Given the description of an element on the screen output the (x, y) to click on. 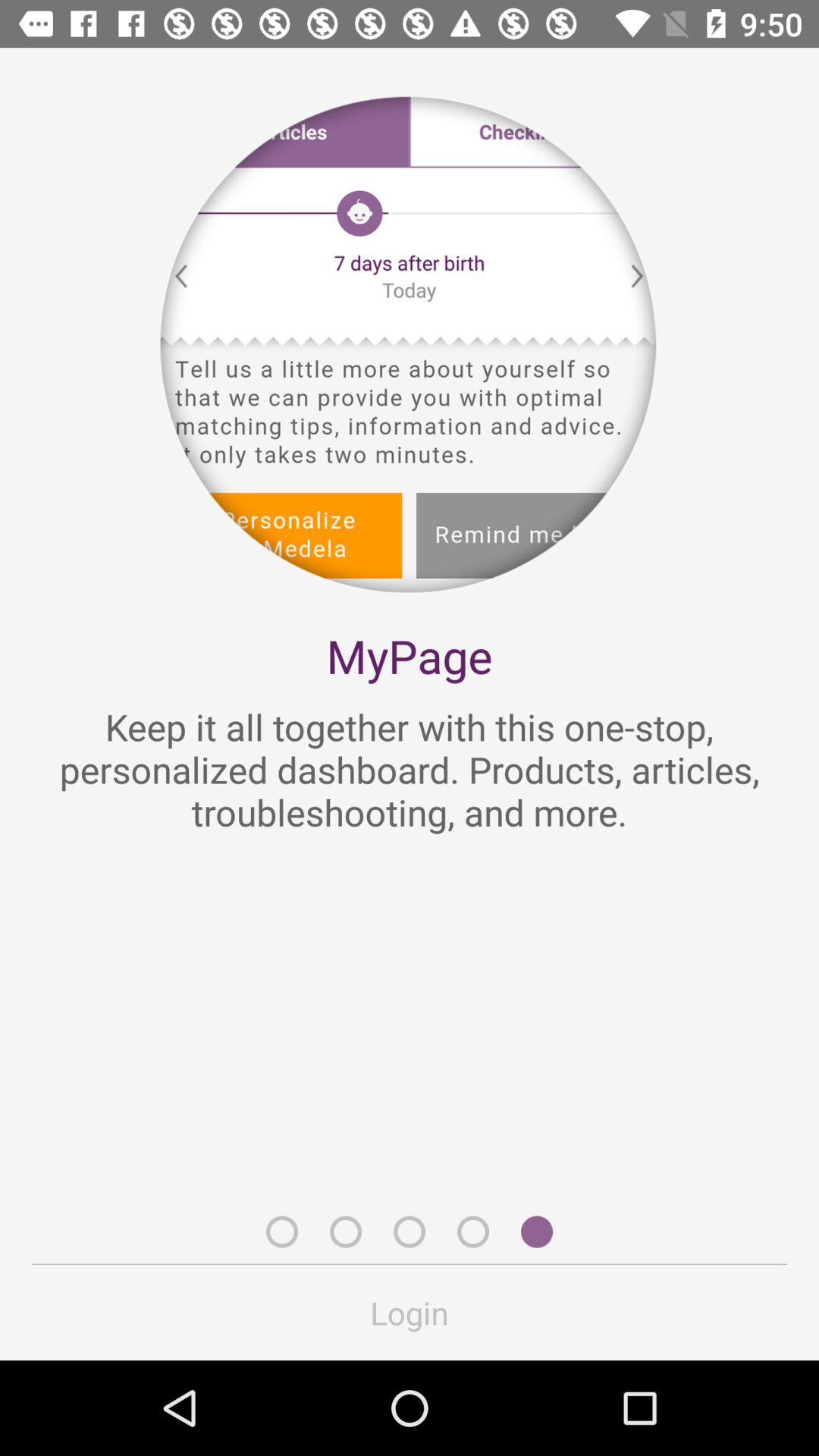
scroll until login (409, 1312)
